Given the description of an element on the screen output the (x, y) to click on. 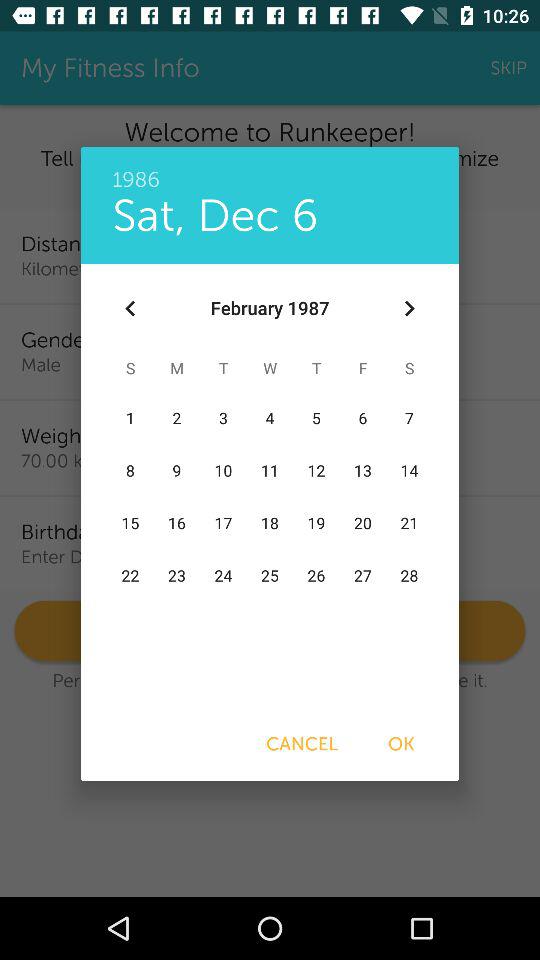
choose the ok item (401, 743)
